Given the description of an element on the screen output the (x, y) to click on. 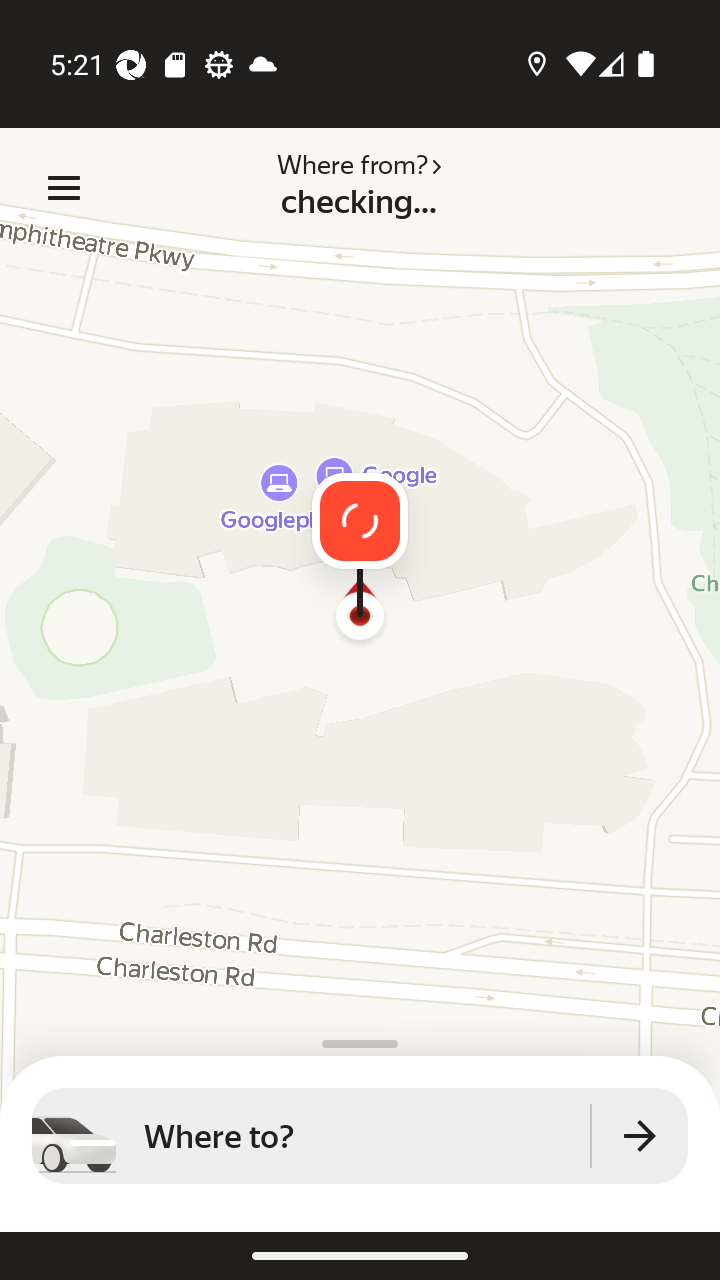
Menu Menu Menu (64, 188)
Where to? Where to? To the choice of address (359, 1136)
To the choice of address (639, 1136)
